Given the description of an element on the screen output the (x, y) to click on. 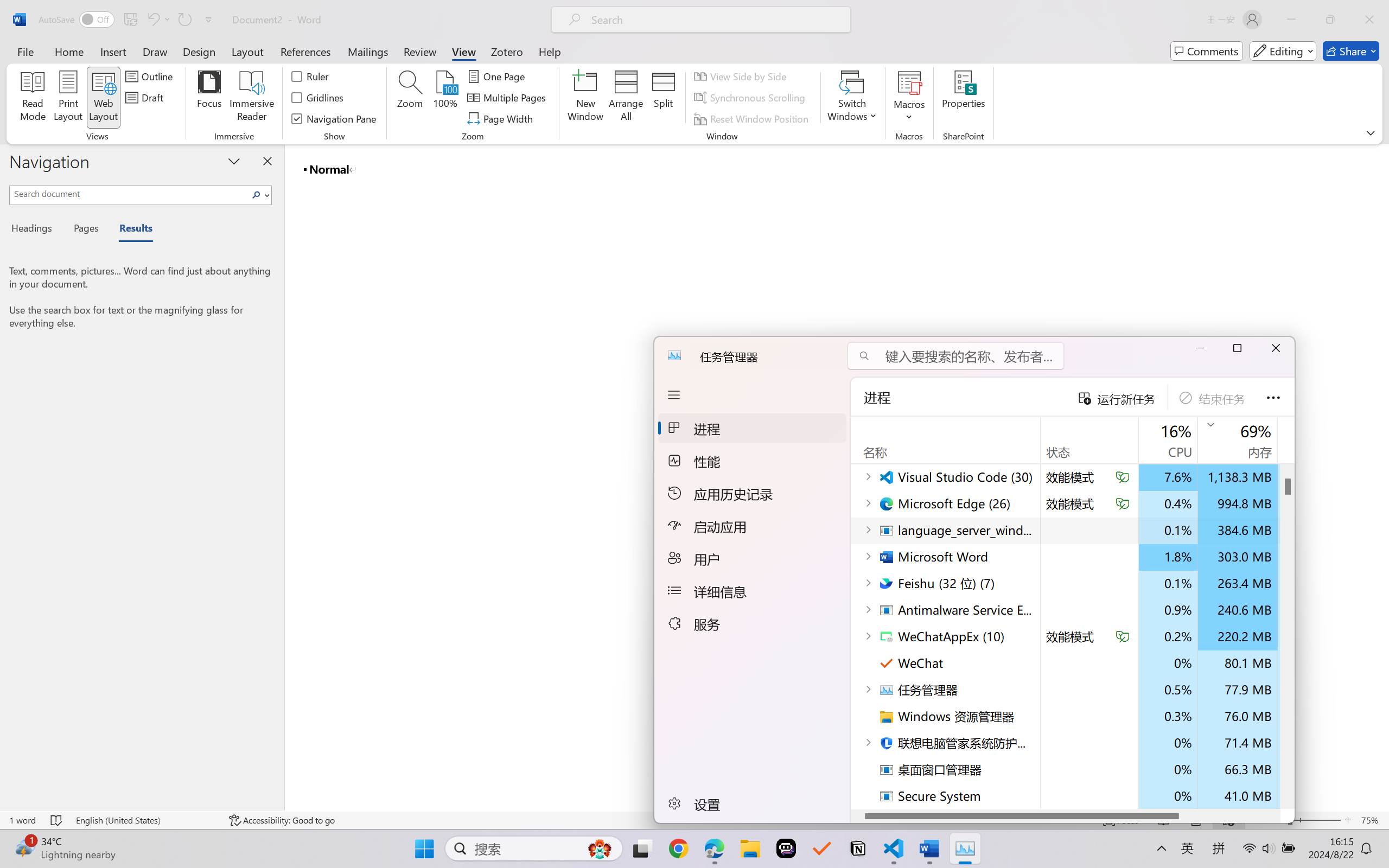
Multiple Pages (507, 97)
View Macros (909, 81)
Repeat Doc Close (184, 19)
Microsoft search (715, 19)
View Side by Side (741, 75)
Zoom... (409, 97)
